Given the description of an element on the screen output the (x, y) to click on. 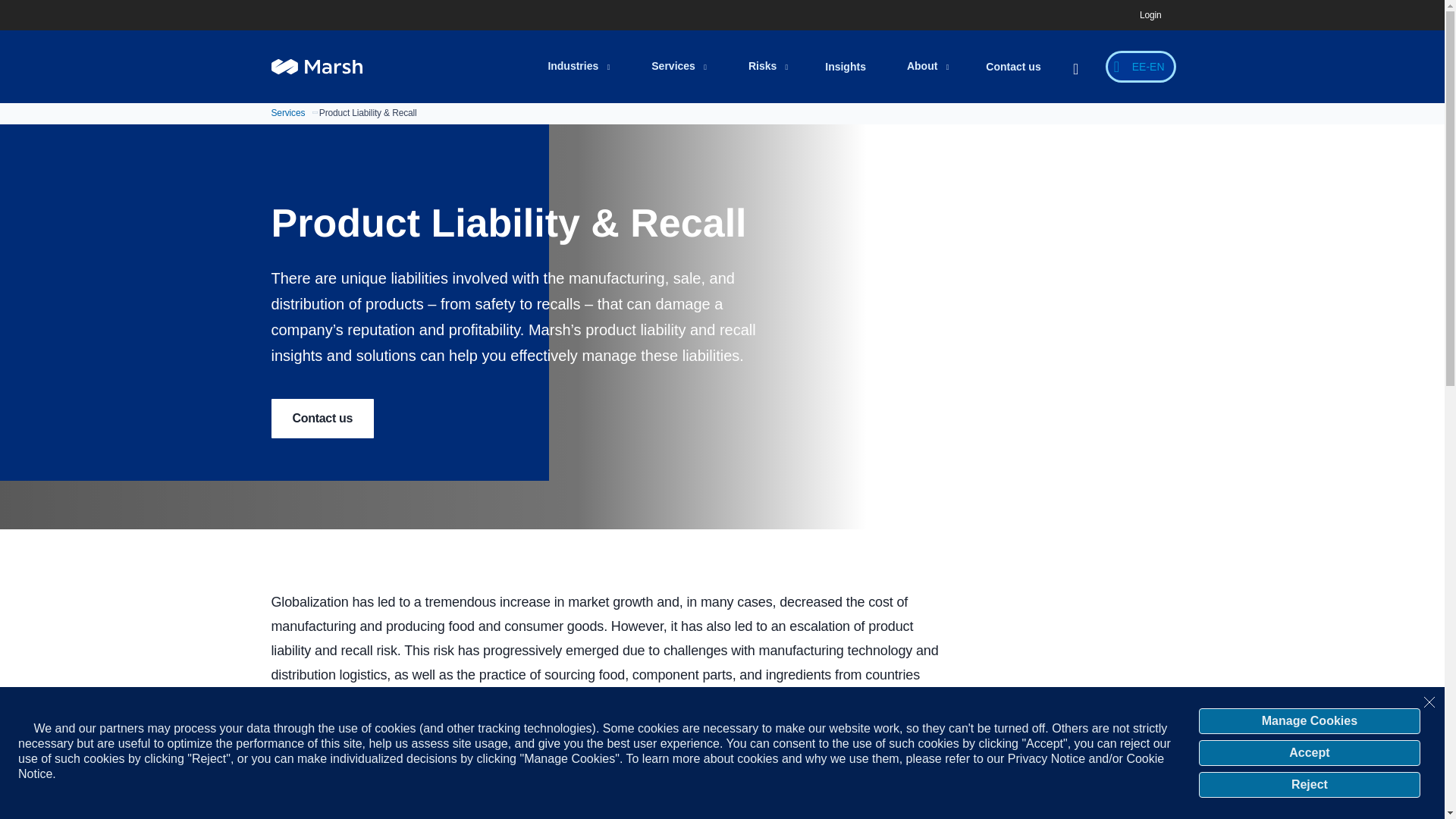
Login (1150, 14)
Industries (578, 66)
Reject (1309, 784)
Skip to main content (731, 10)
Accept (1309, 752)
Manage Cookies (1309, 720)
